Given the description of an element on the screen output the (x, y) to click on. 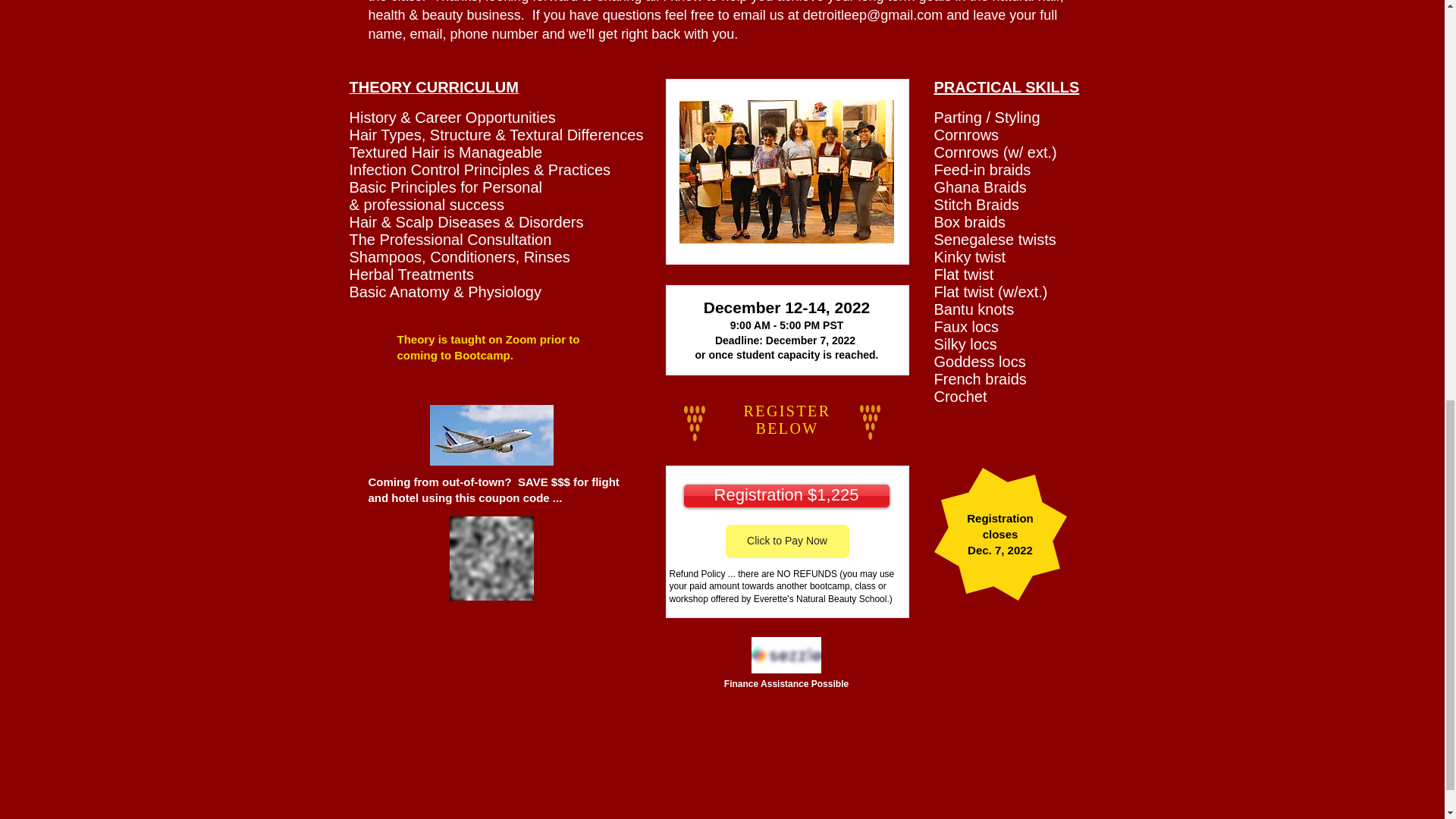
Click to Pay Now (786, 540)
